Given the description of an element on the screen output the (x, y) to click on. 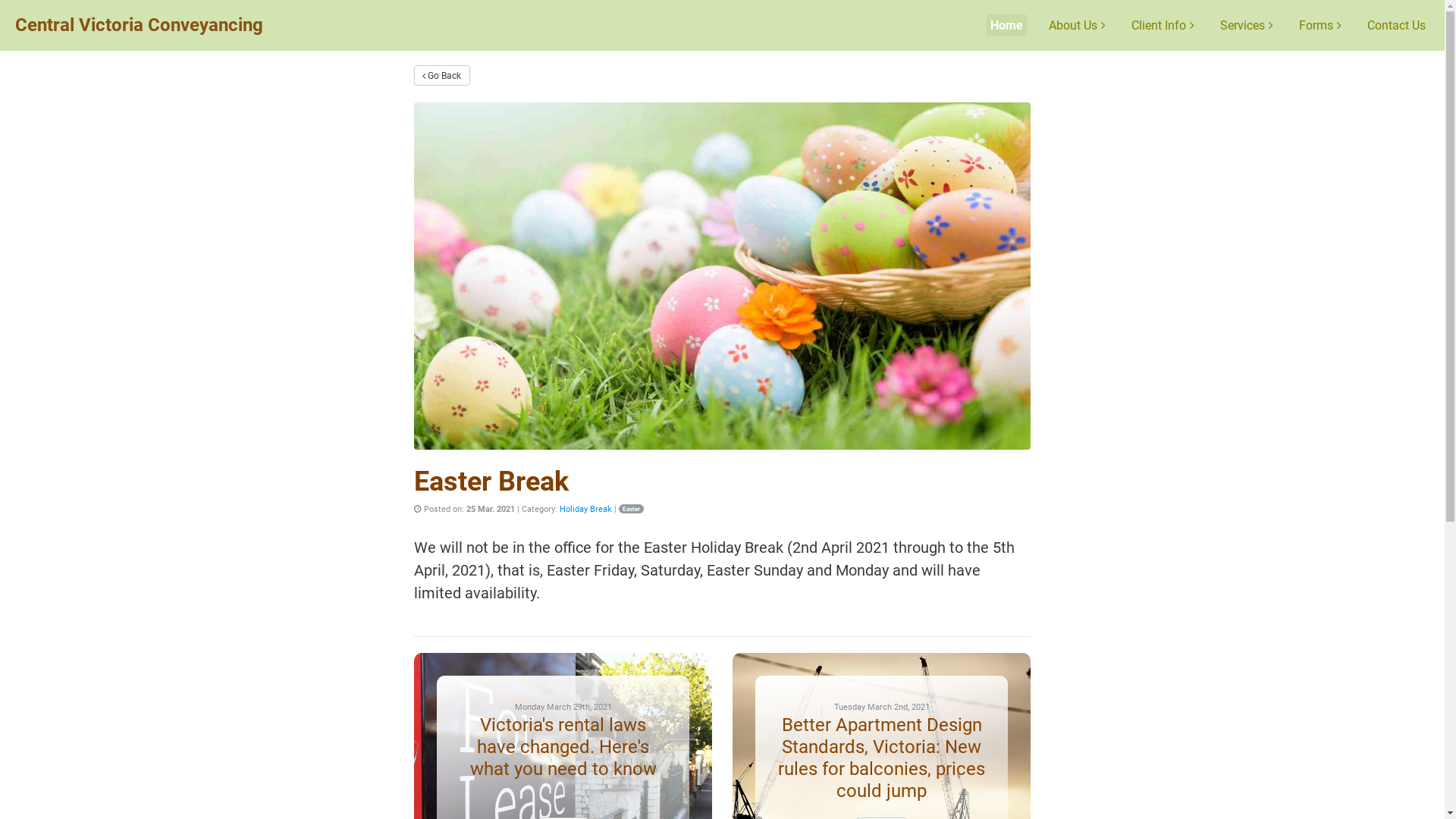
Easter Element type: text (630, 509)
About Us Element type: text (1076, 25)
Client Info Element type: text (1162, 25)
Forms Element type: text (1320, 25)
Home Element type: text (1006, 25)
Central Victoria Conveyancing Element type: text (139, 24)
Services Element type: text (1246, 25)
Go Back Element type: text (442, 75)
Contact Us Element type: text (1396, 25)
Holiday Break Element type: text (585, 509)
